Given the description of an element on the screen output the (x, y) to click on. 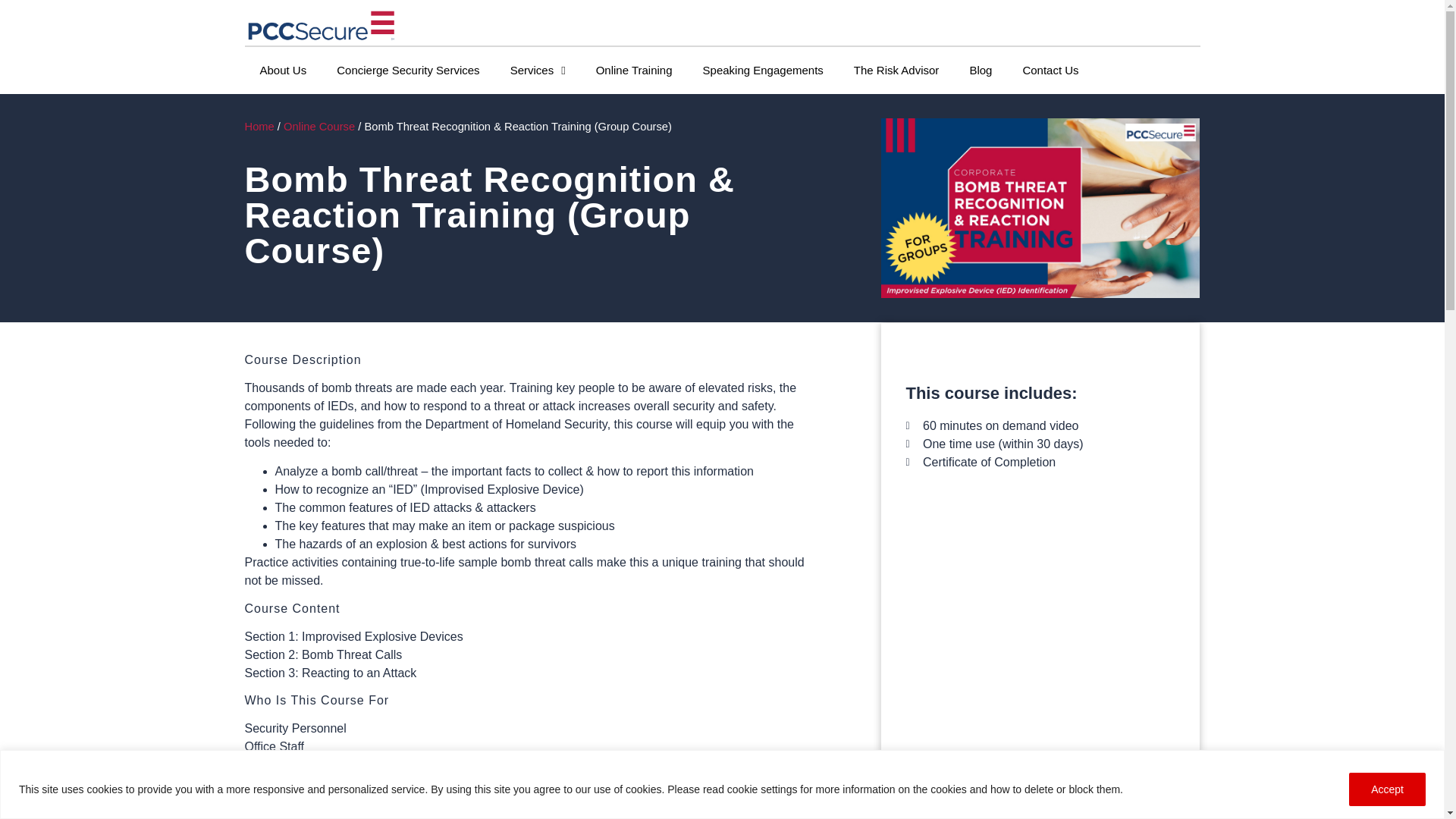
Accept (1387, 788)
Speaking Engagements (762, 70)
Online Training (633, 70)
Concierge Security Services (408, 70)
The Risk Advisor (896, 70)
Blog (980, 70)
Contact Us (1050, 70)
About Us (282, 70)
Services (537, 70)
